Given the description of an element on the screen output the (x, y) to click on. 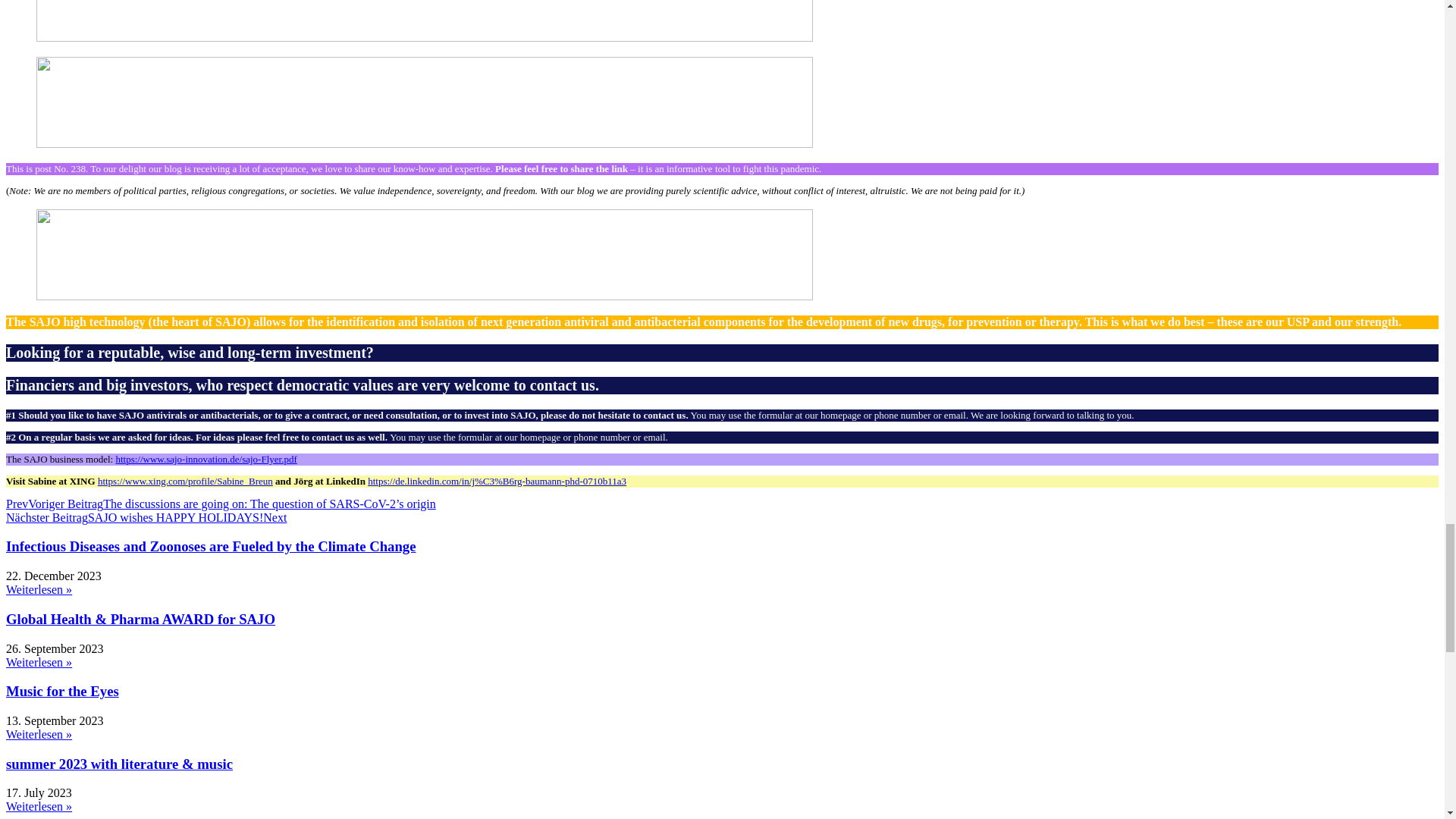
Music for the Eyes (62, 691)
